Given the description of an element on the screen output the (x, y) to click on. 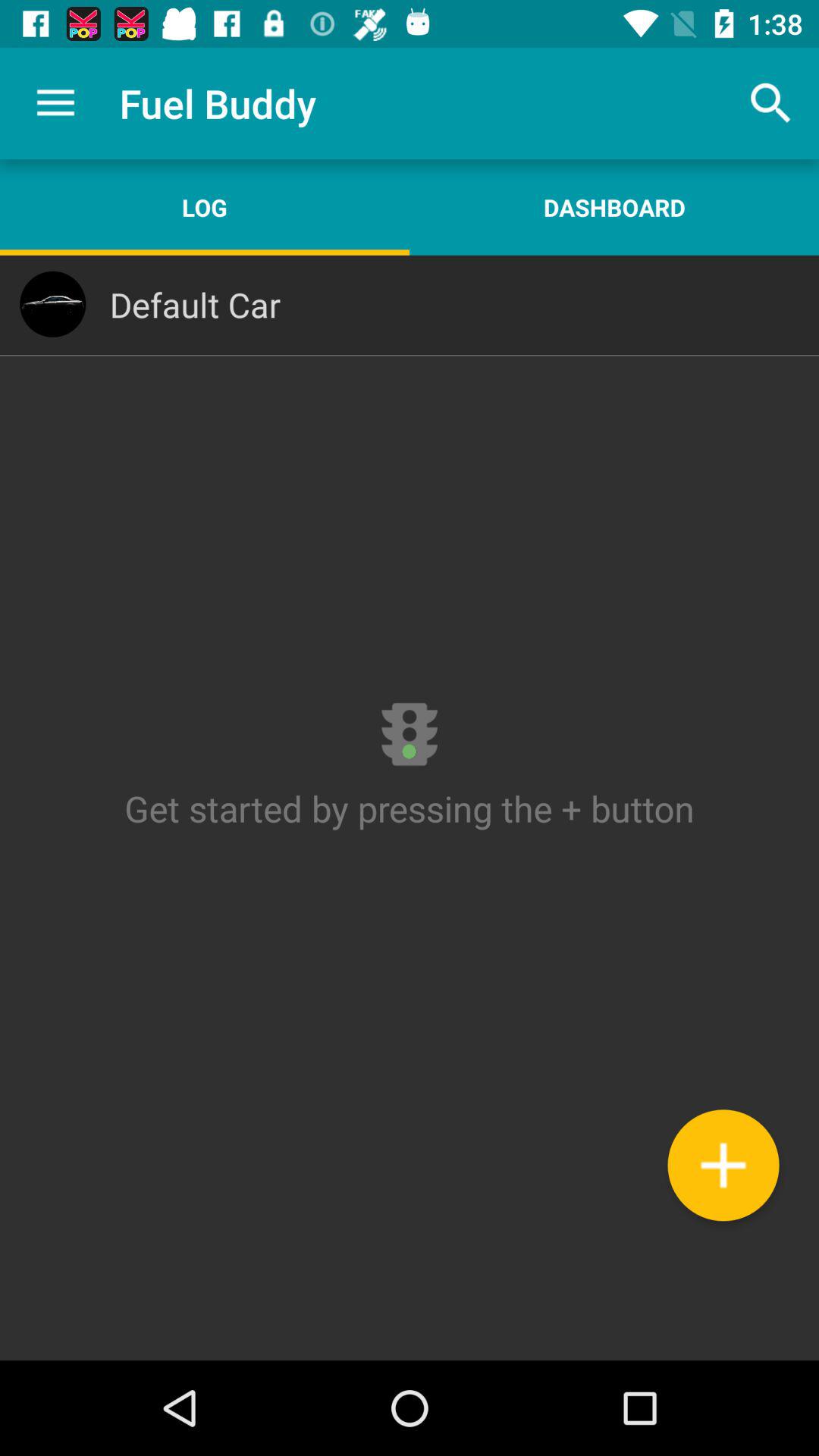
choose the dashboard (614, 207)
